Given the description of an element on the screen output the (x, y) to click on. 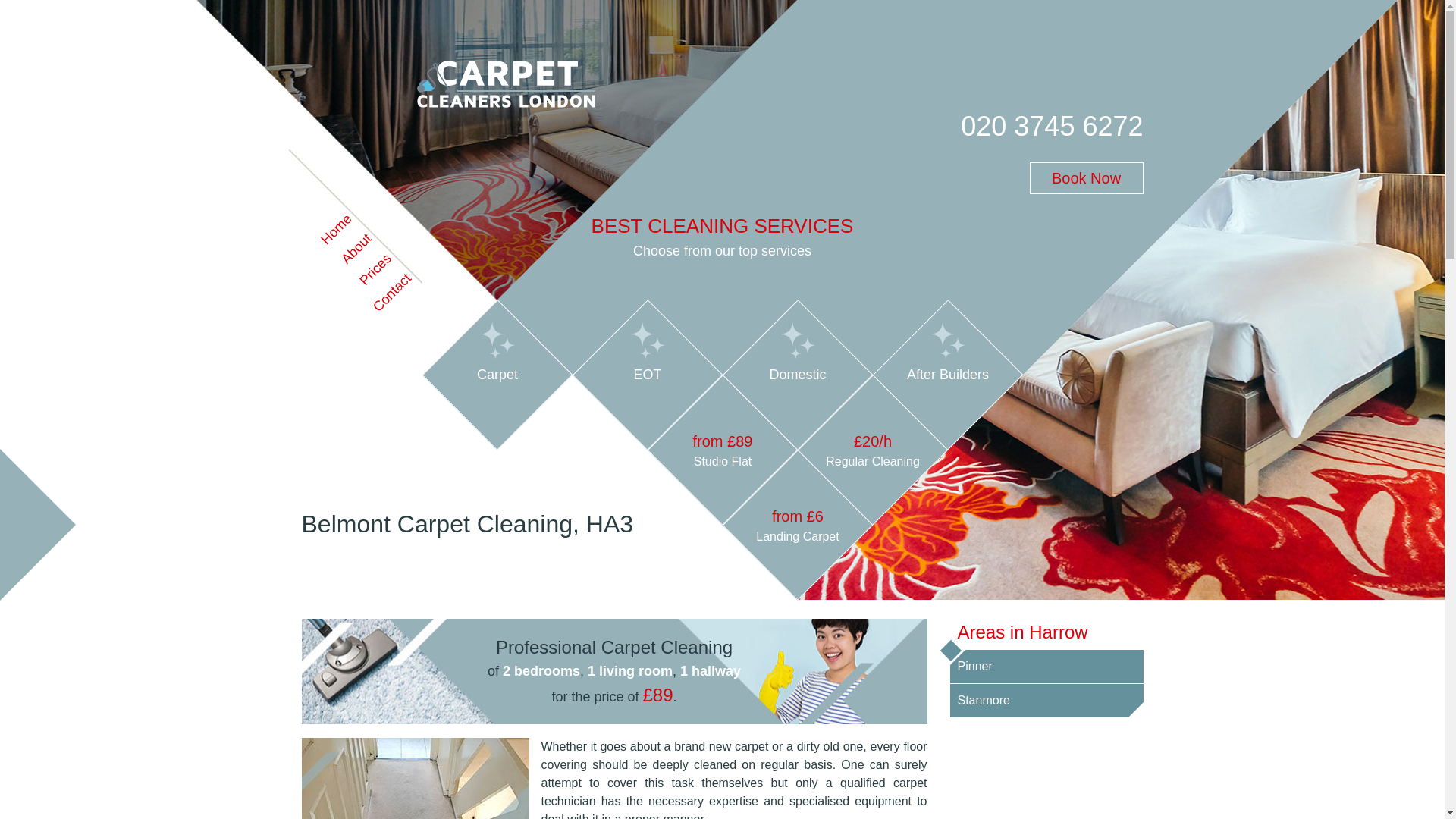
Stanmore (1045, 700)
About (338, 237)
Carpet Cleaners London (367, 115)
Pinner (1045, 666)
Carpet (474, 352)
Home (318, 217)
EOT (625, 352)
Contact (377, 277)
After Builders (925, 352)
Domestic (775, 352)
020 3745 6272 (1051, 126)
Prices (357, 257)
Book Now (1085, 178)
